Given the description of an element on the screen output the (x, y) to click on. 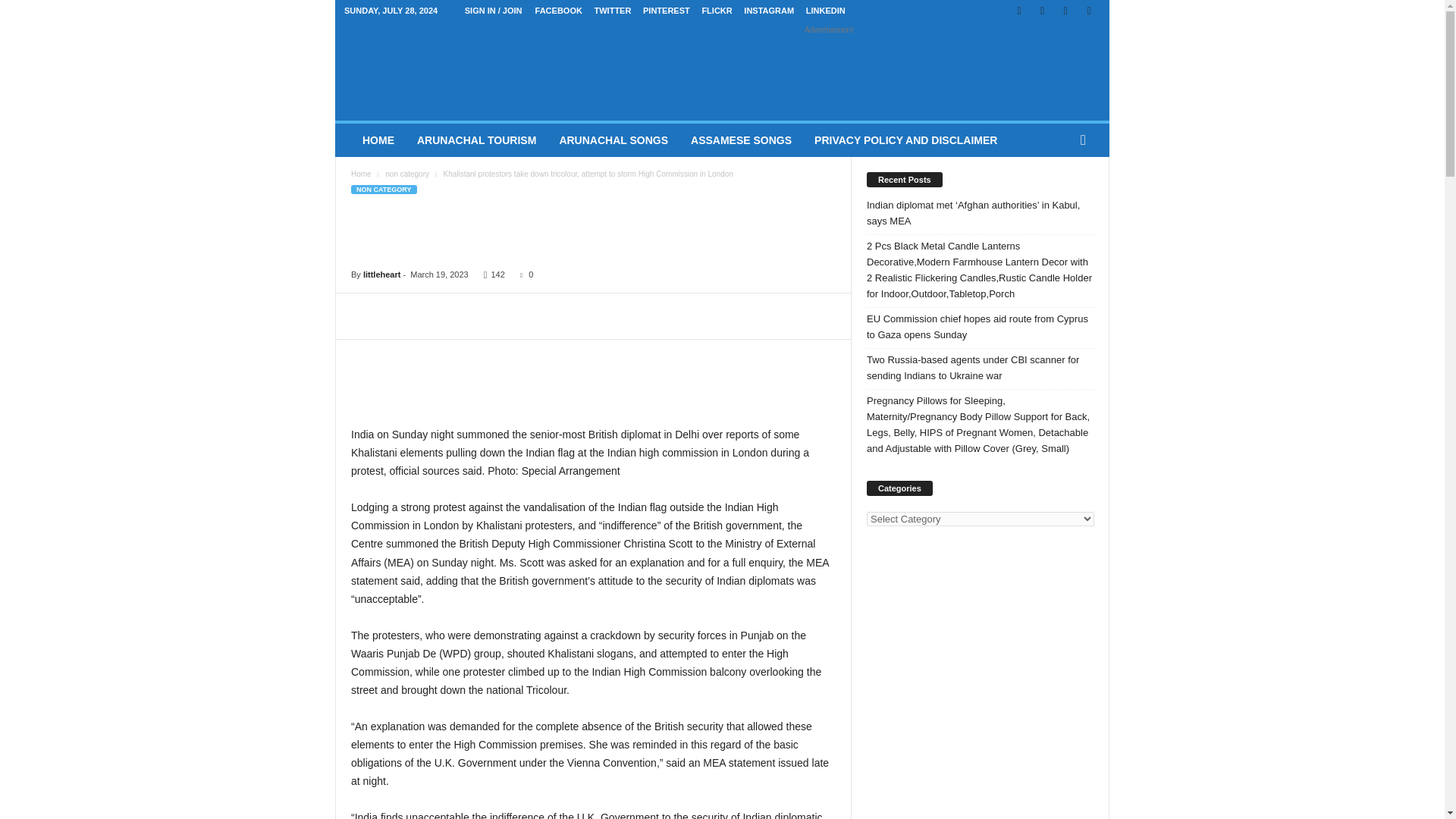
LINKEDIN (825, 10)
arunachalbuzz (442, 70)
FLICKR (716, 10)
Youtube (1088, 11)
ARUNACHAL TOURISM (476, 140)
NON CATEGORY (383, 189)
Home (360, 173)
PRIVACY POLICY AND DISCLAIMER (906, 140)
HOME (378, 140)
FACEBOOK (558, 10)
INSTAGRAM (768, 10)
ASSAMESE SONGS (741, 140)
Instagram (1042, 11)
non category (407, 173)
